Given the description of an element on the screen output the (x, y) to click on. 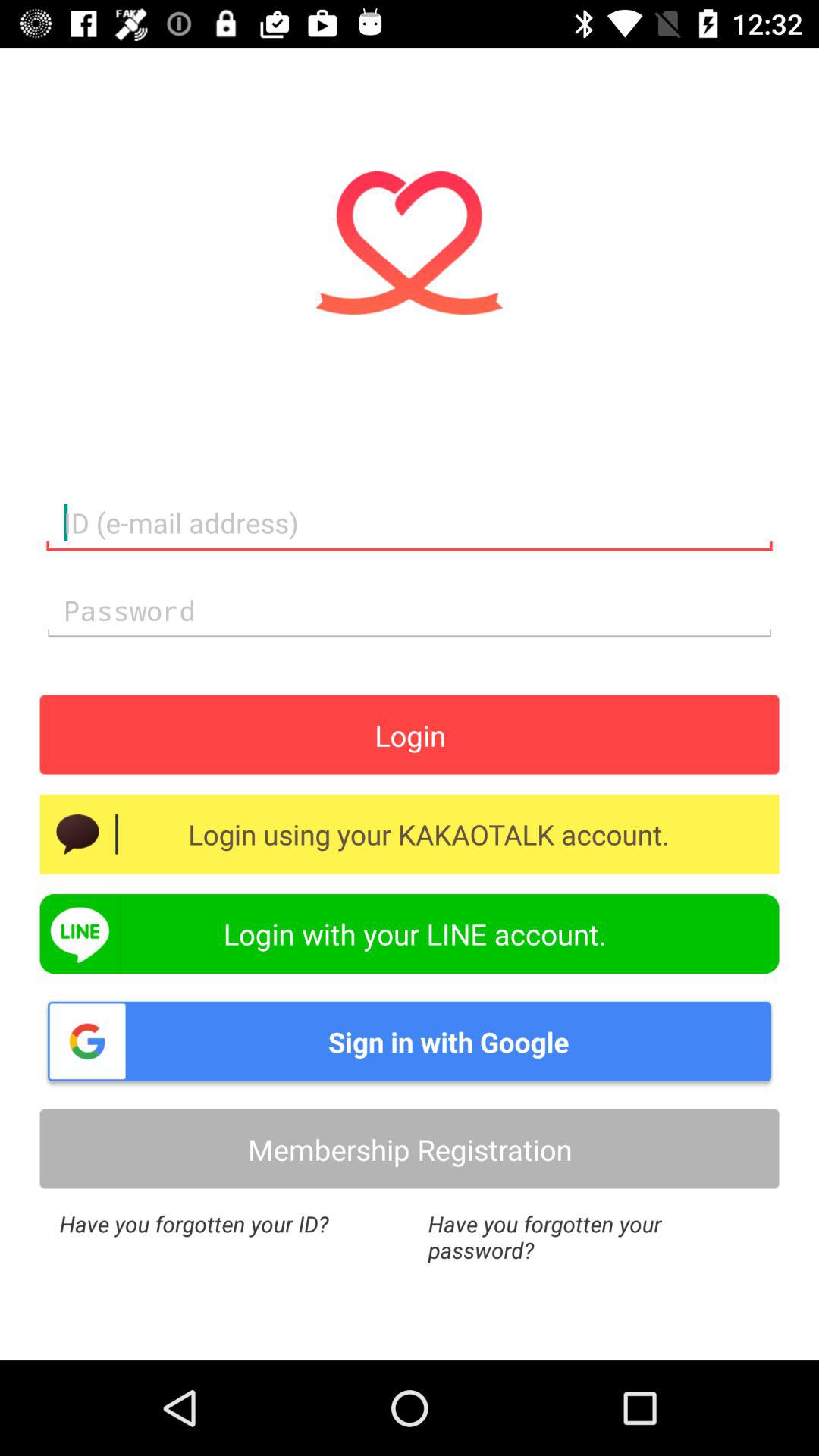
choose membership registration (409, 1148)
